Given the description of an element on the screen output the (x, y) to click on. 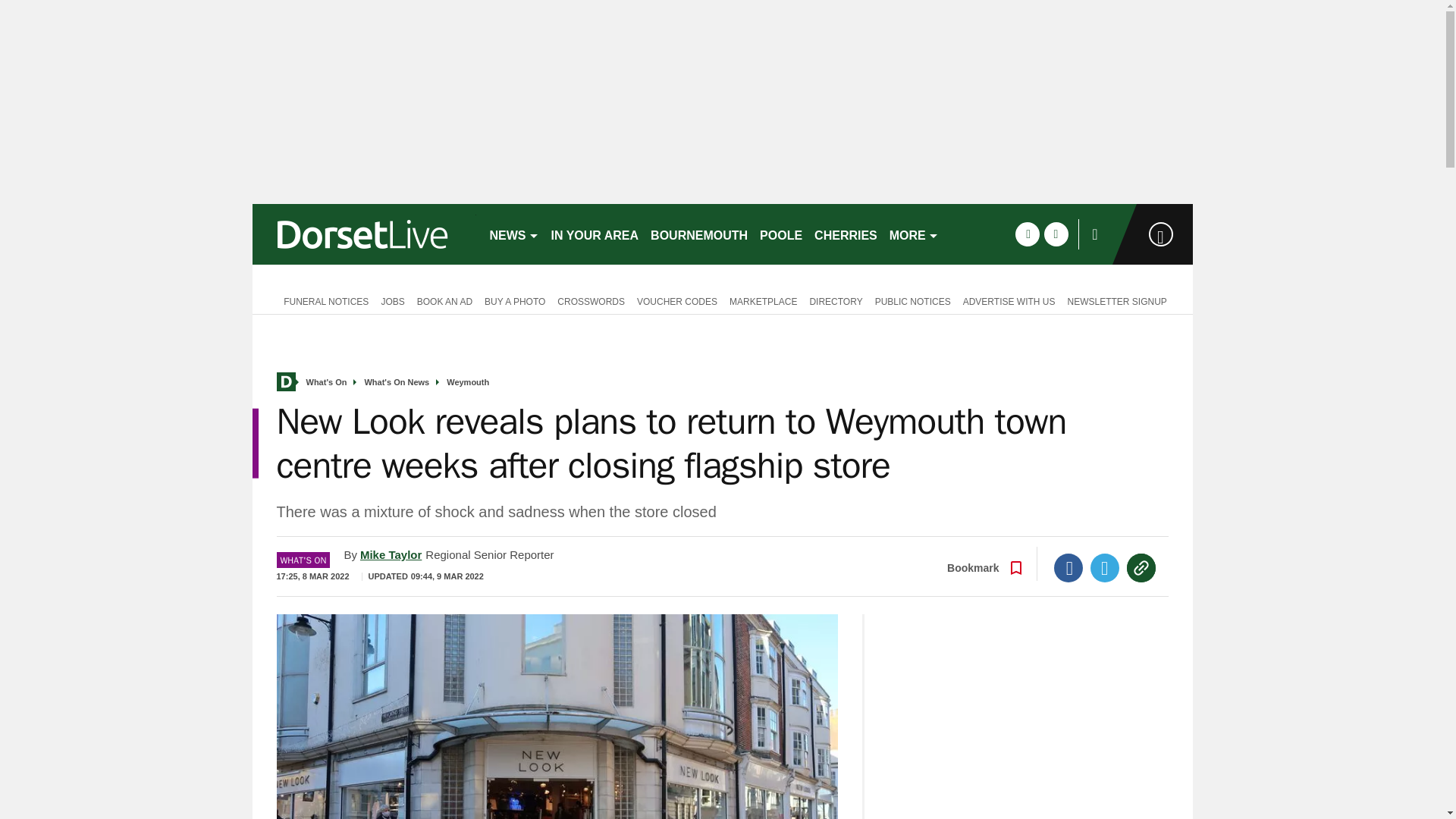
Twitter (1104, 567)
CROSSWORDS (590, 300)
DIRECTORY (835, 300)
BOURNEMOUTH (699, 233)
dorsetlive (363, 233)
NEWS (513, 233)
FUNERAL NOTICES (322, 300)
VOUCHER CODES (676, 300)
Facebook (1068, 567)
IN YOUR AREA (594, 233)
